Given the description of an element on the screen output the (x, y) to click on. 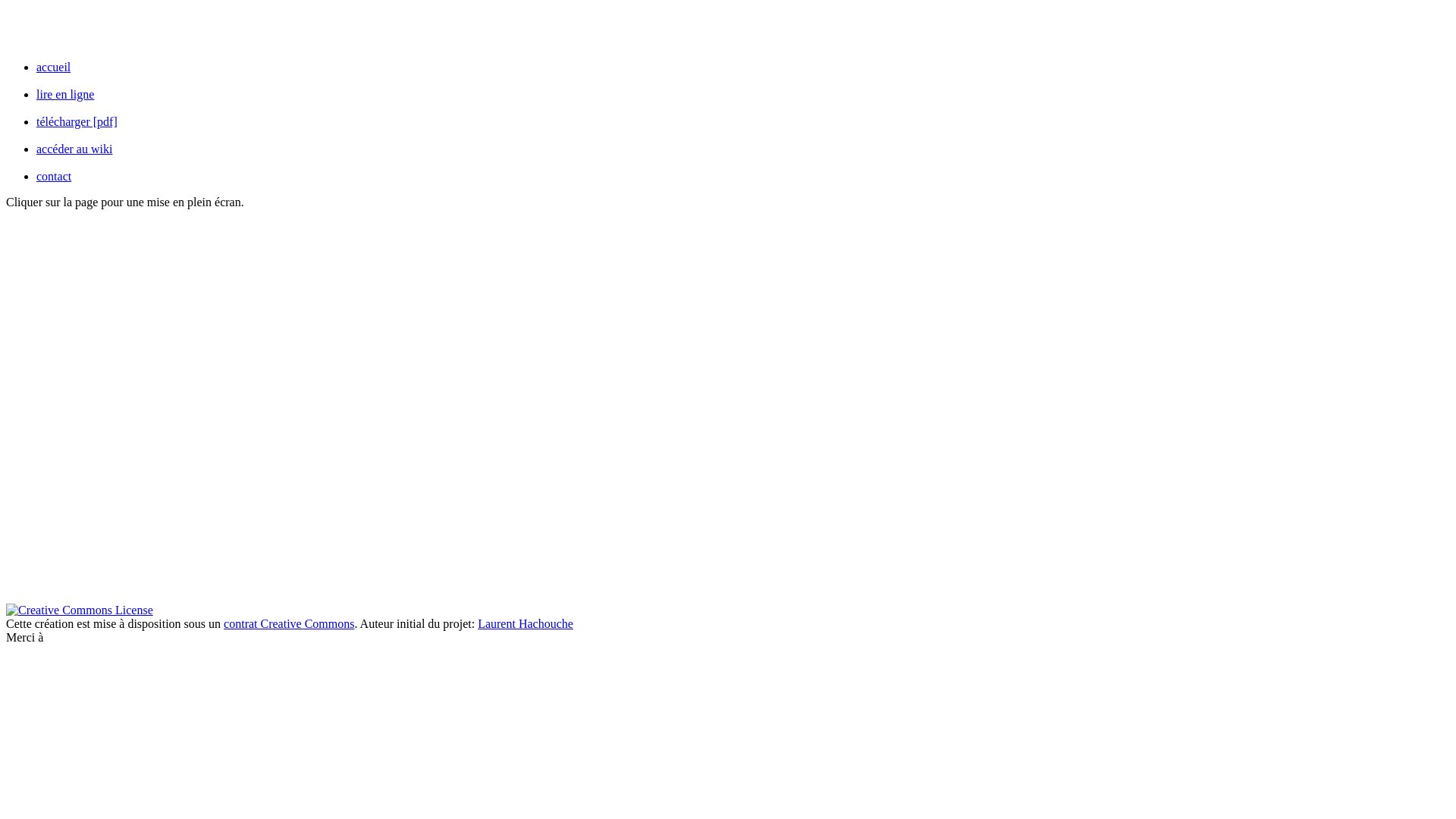
contact Element type: text (53, 175)
lire en ligne Element type: text (65, 93)
contrat Creative Commons Element type: text (288, 623)
accueil Element type: text (53, 66)
Laurent Hachouche Element type: text (525, 623)
